Given the description of an element on the screen output the (x, y) to click on. 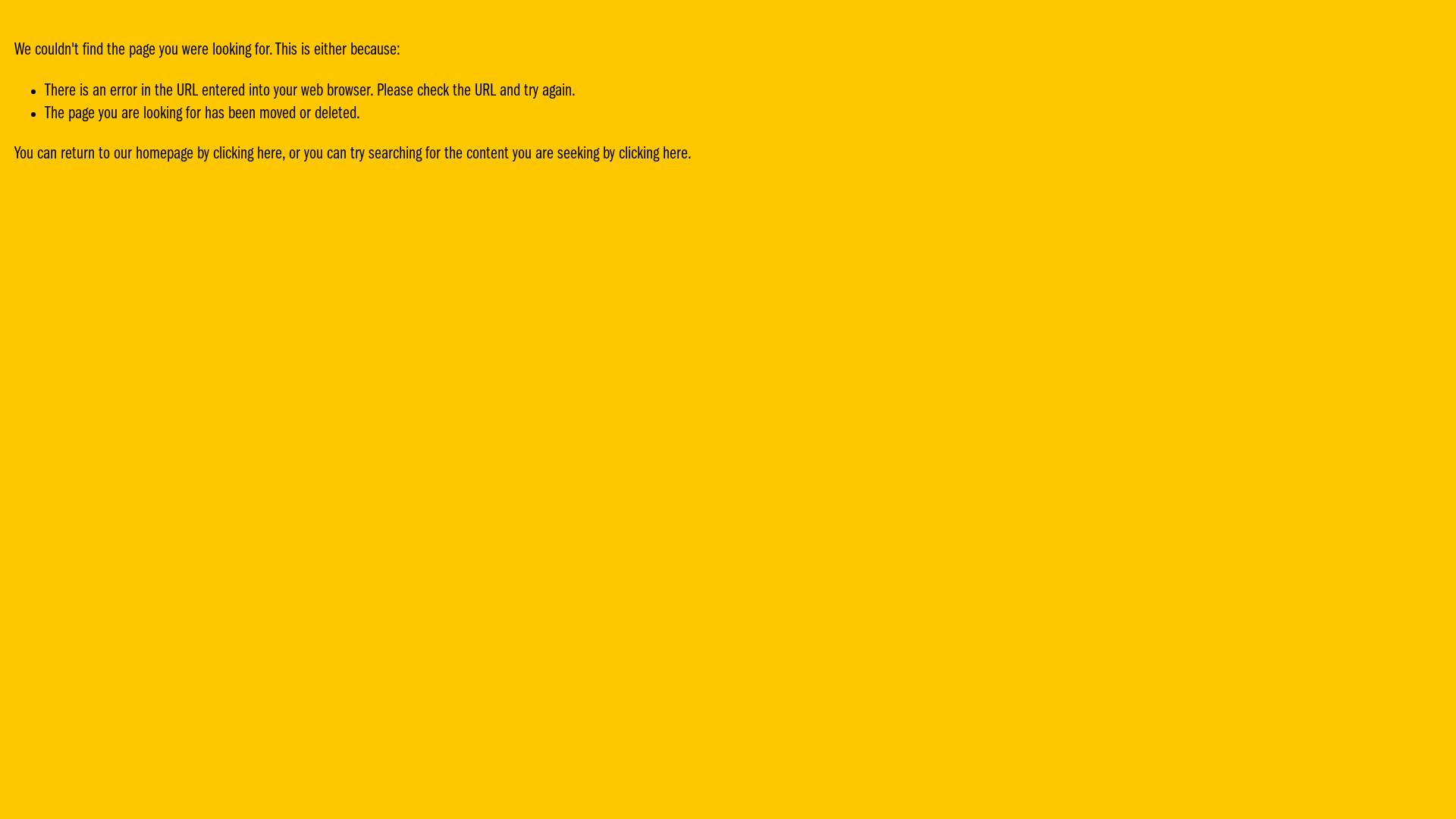
clicking here Element type: text (652, 154)
clicking here Element type: text (247, 154)
